Given the description of an element on the screen output the (x, y) to click on. 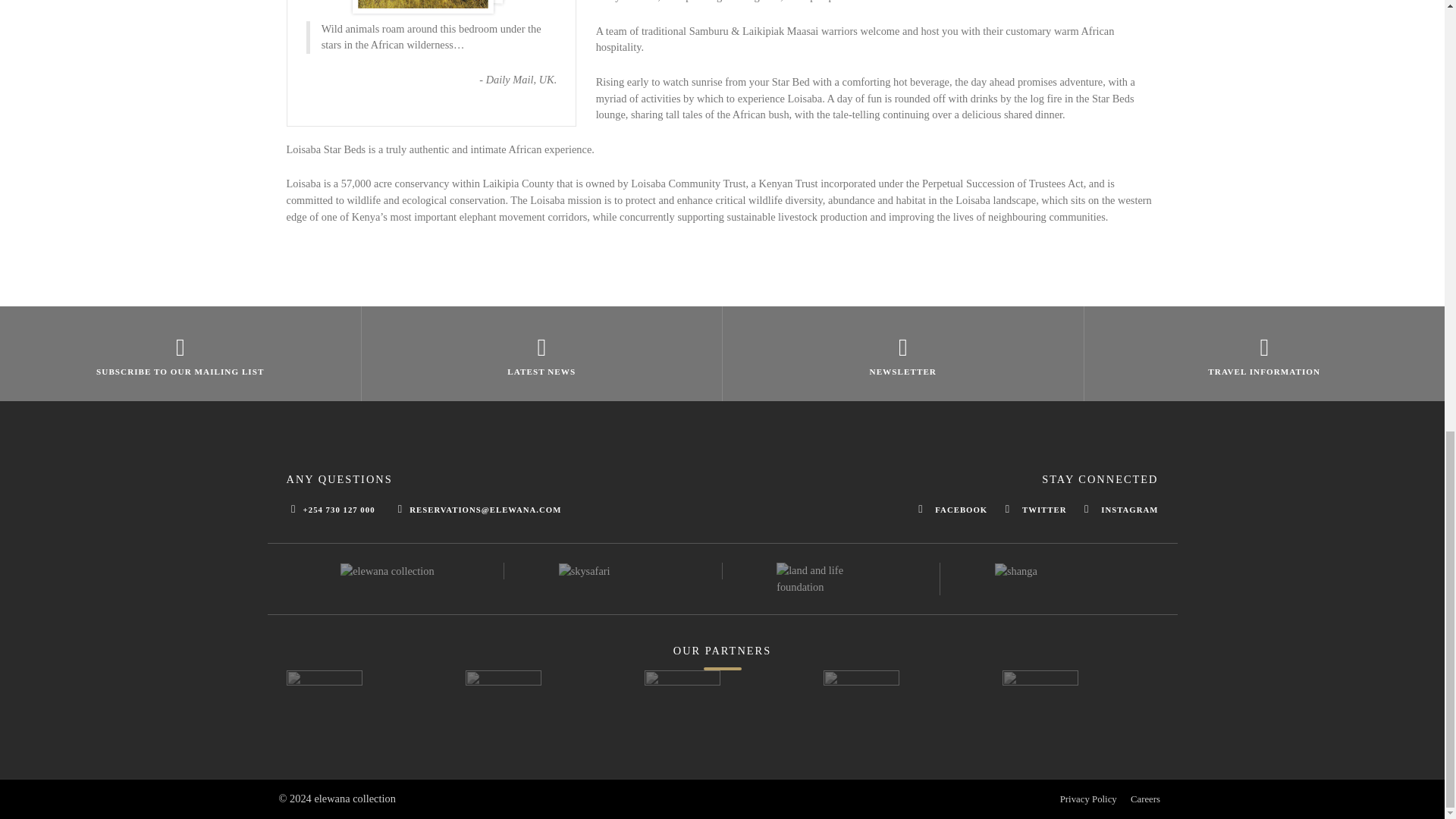
Newsletter (903, 353)
Latest News (541, 353)
FACEBOOK (952, 509)
INSTAGRAM (1117, 509)
TWITTER (1035, 509)
Subscribe to Our Mailing List (180, 353)
